Given the description of an element on the screen output the (x, y) to click on. 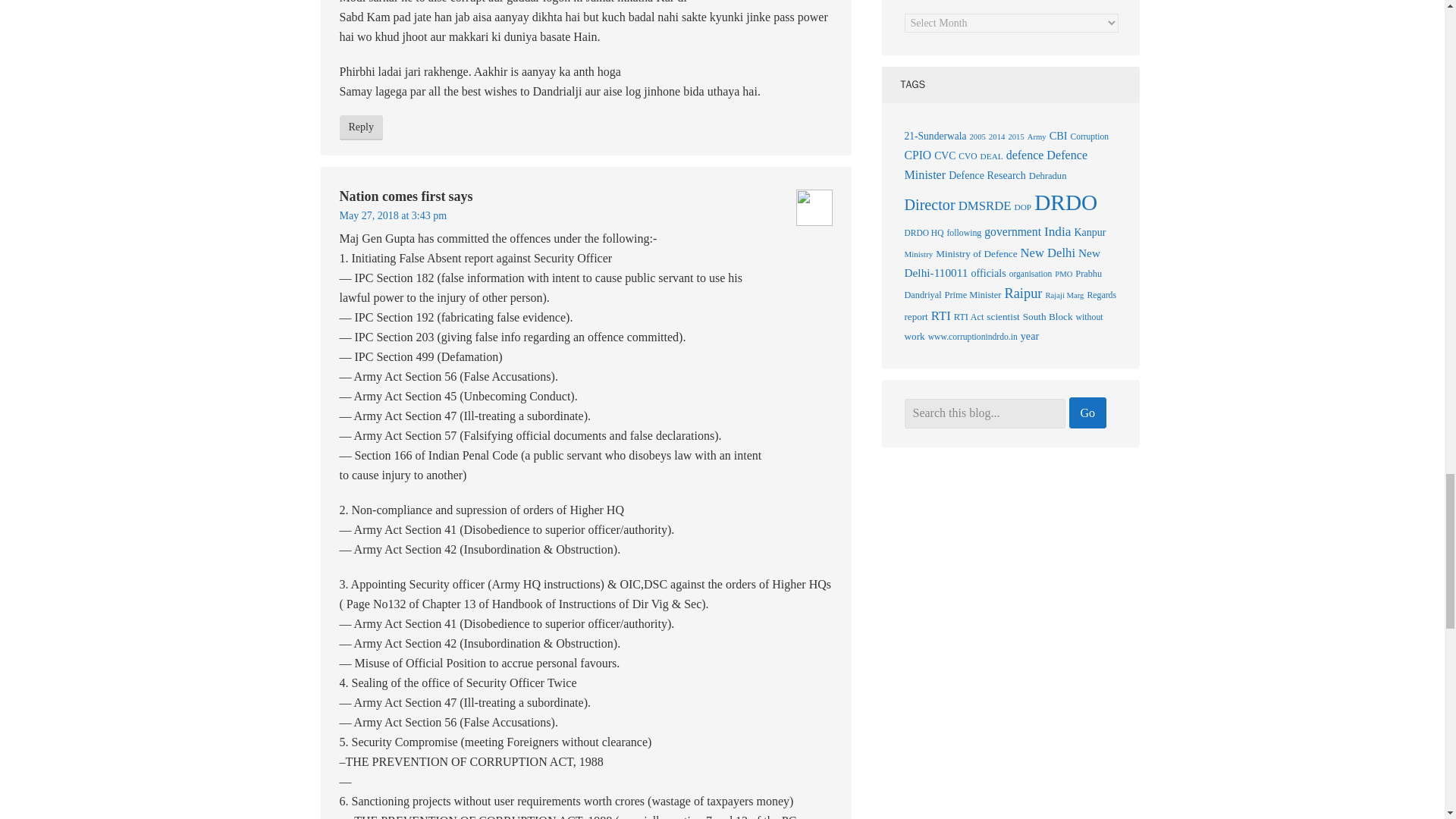
May 27, 2018 at 3:43 pm (392, 215)
Go (1087, 412)
Go (1087, 412)
Reply (360, 127)
